Given the description of an element on the screen output the (x, y) to click on. 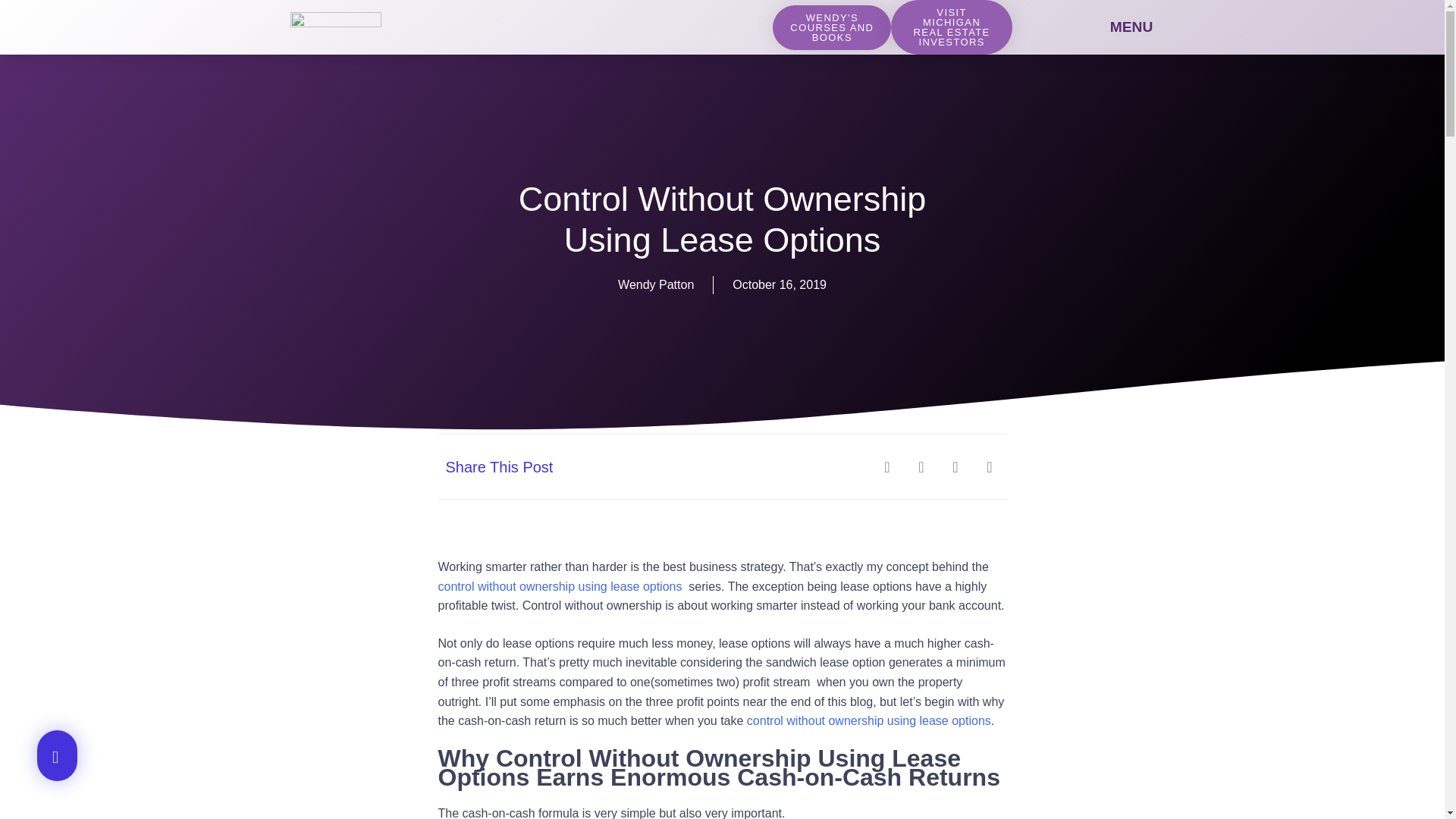
Wendy Patton (655, 285)
October 16, 2019 (779, 285)
control without ownership using lease options (561, 585)
MENU (1131, 26)
WENDY'S COURSES AND BOOKS (832, 26)
control without ownership using lease options (868, 720)
VISIT MICHIGAN REAL ESTATE INVESTORS (951, 27)
